Given the description of an element on the screen output the (x, y) to click on. 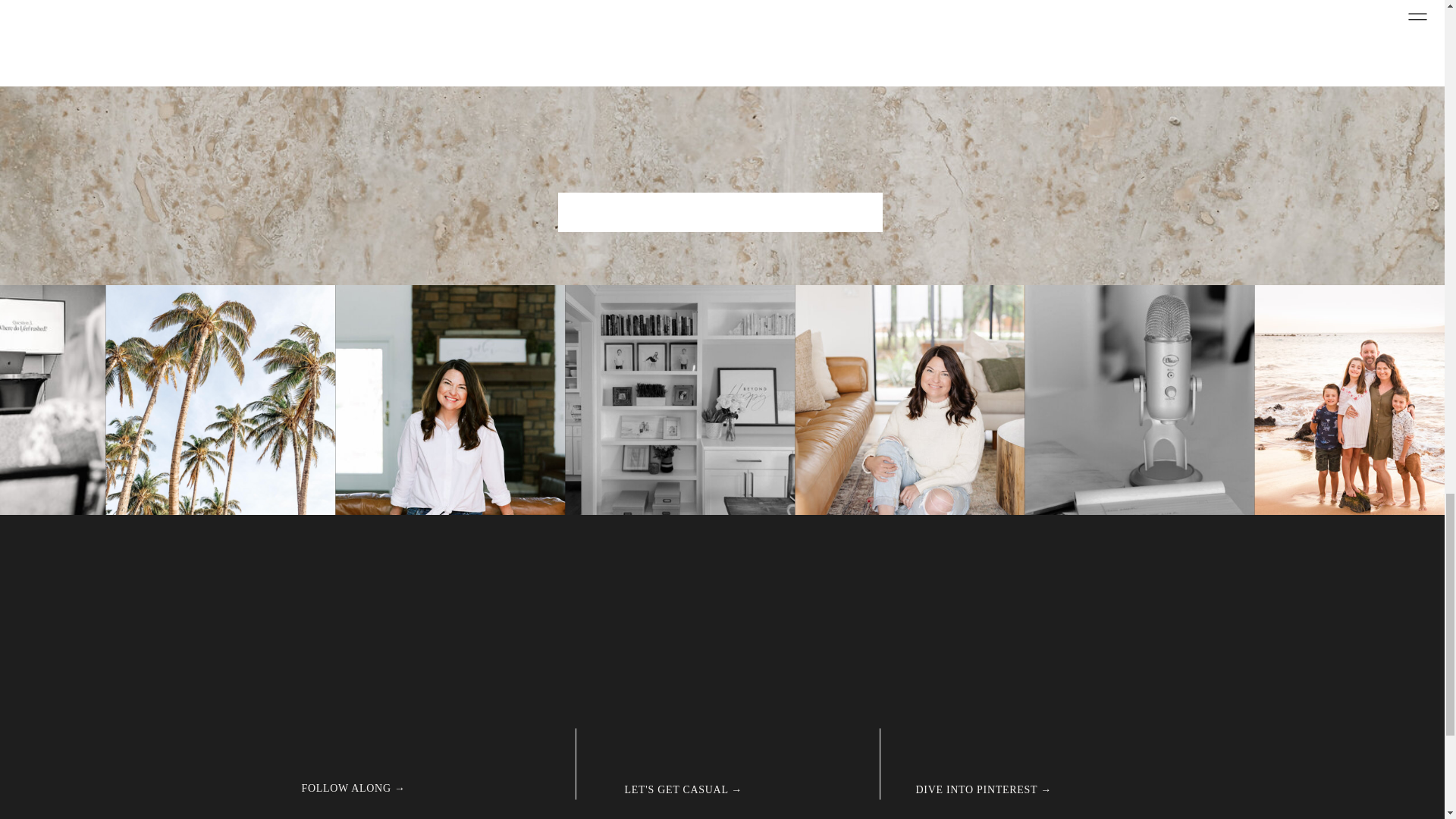
Office-Becky-Hoschek-Business-life-Coach-038 (1139, 400)
josiederrick.becky.2022-8 (449, 400)
9Becky-Hoschek-Business-Coach-For-Entrepreneurs  (909, 400)
Screen Shot 2023-02-07 at 10.31.04 AM (219, 400)
Office-Becky-Hoschek-Business-life-Coach-001 (679, 400)
